Given the description of an element on the screen output the (x, y) to click on. 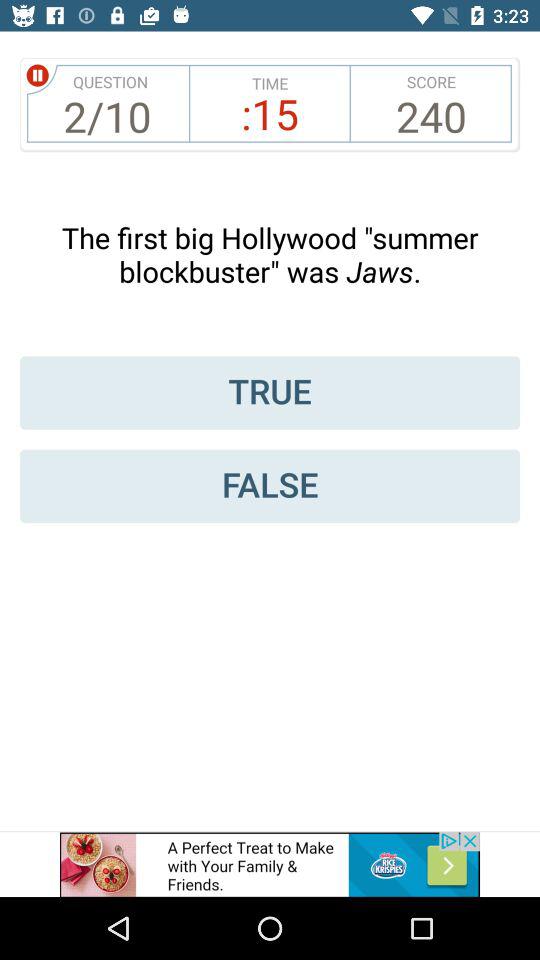
advertisement (270, 864)
